Given the description of an element on the screen output the (x, y) to click on. 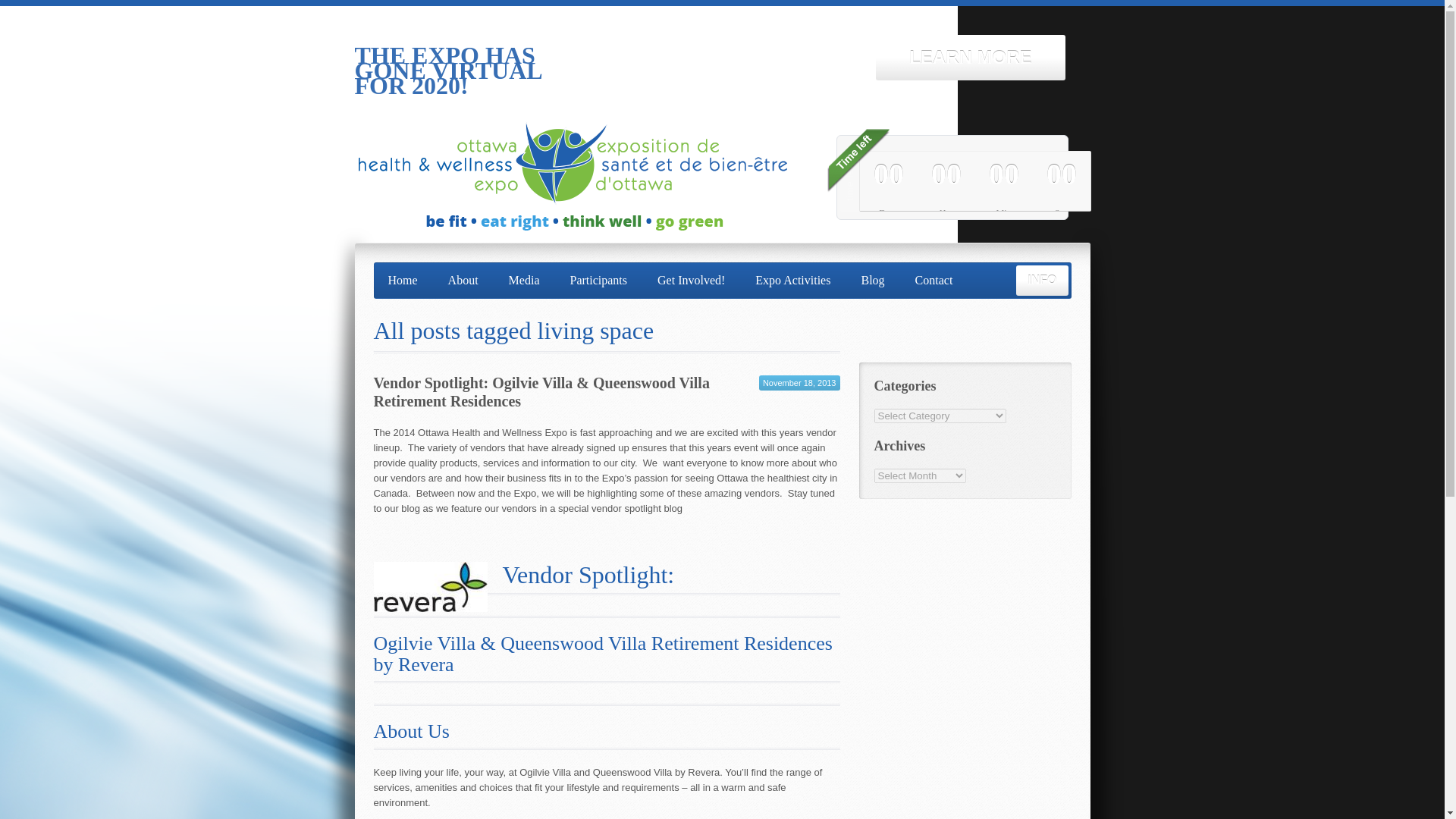
LEARN MORE (970, 57)
Expo Activities (792, 280)
About (462, 280)
Blog (871, 280)
Get Involved! (691, 280)
INFO (1041, 280)
Home (401, 280)
Participants (598, 280)
Contact (933, 280)
Media (524, 280)
